Given the description of an element on the screen output the (x, y) to click on. 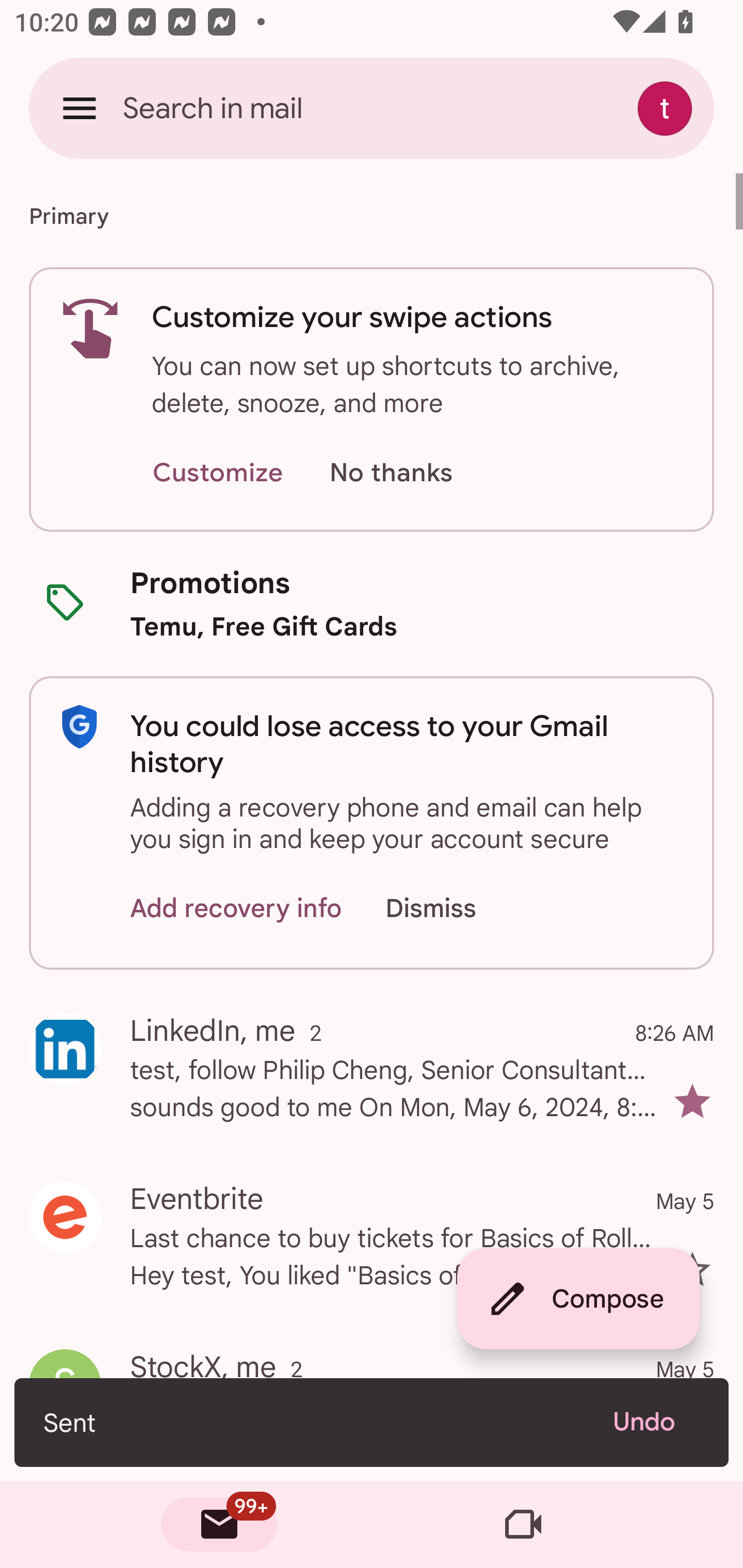
Open navigation drawer (79, 108)
Customize (217, 473)
No thanks (390, 473)
Promotions Temu, Free Gift Cards (371, 603)
Add recovery info (235, 908)
Dismiss (449, 908)
Compose (577, 1299)
Undo (655, 1422)
Meet (523, 1524)
